Given the description of an element on the screen output the (x, y) to click on. 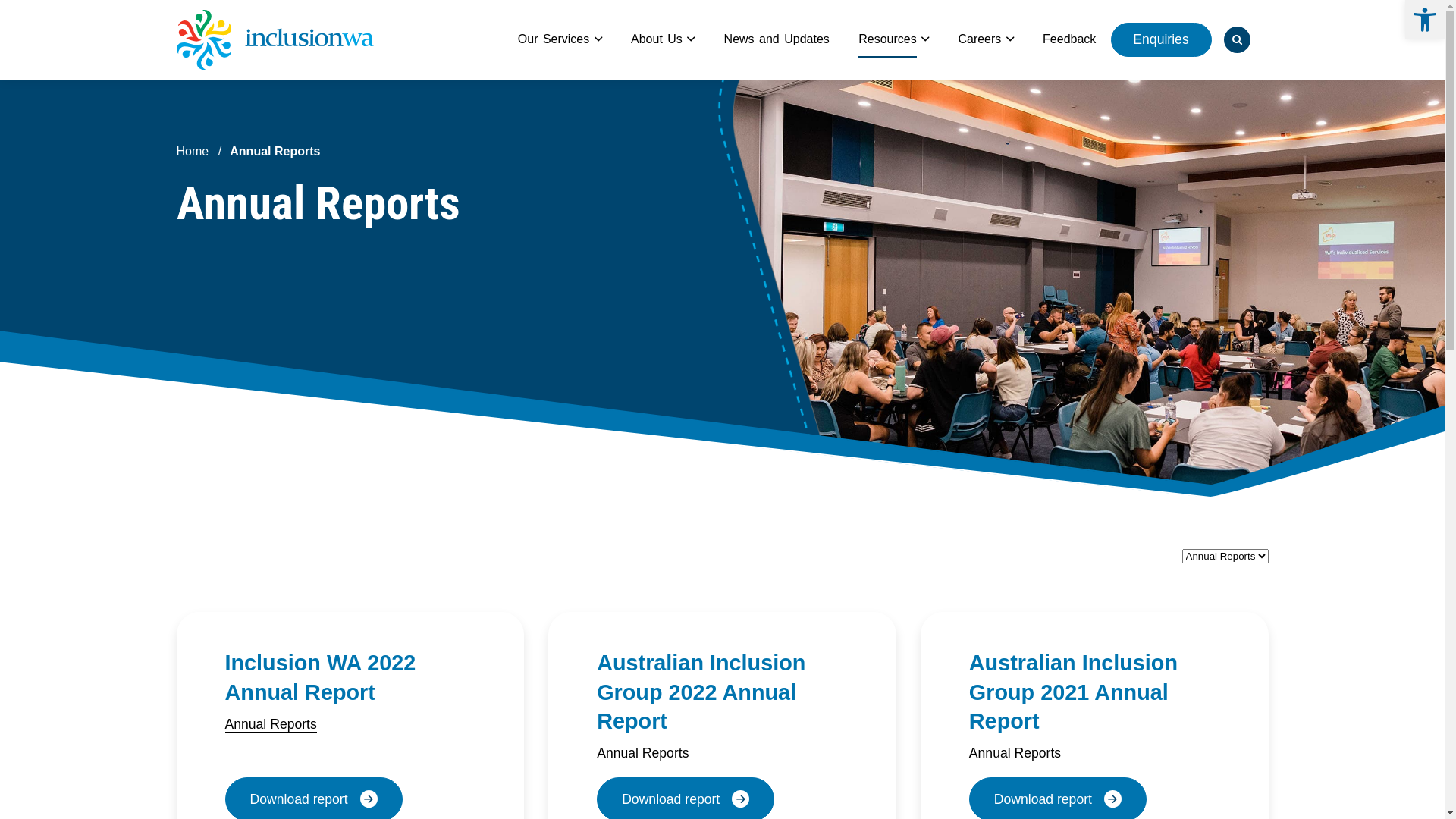
Annual Reports Element type: text (642, 753)
Home Element type: text (191, 150)
Feedback Element type: text (1068, 38)
Our Services Element type: text (553, 38)
News and Updates Element type: text (776, 38)
About Us Element type: text (656, 38)
Careers Element type: text (979, 38)
Annual Reports Element type: text (270, 724)
Annual Reports Element type: text (1014, 753)
Resources Element type: text (887, 38)
Open toolbar
Accessibility Tools Element type: text (1424, 19)
Enquiries Element type: text (1160, 39)
